Given the description of an element on the screen output the (x, y) to click on. 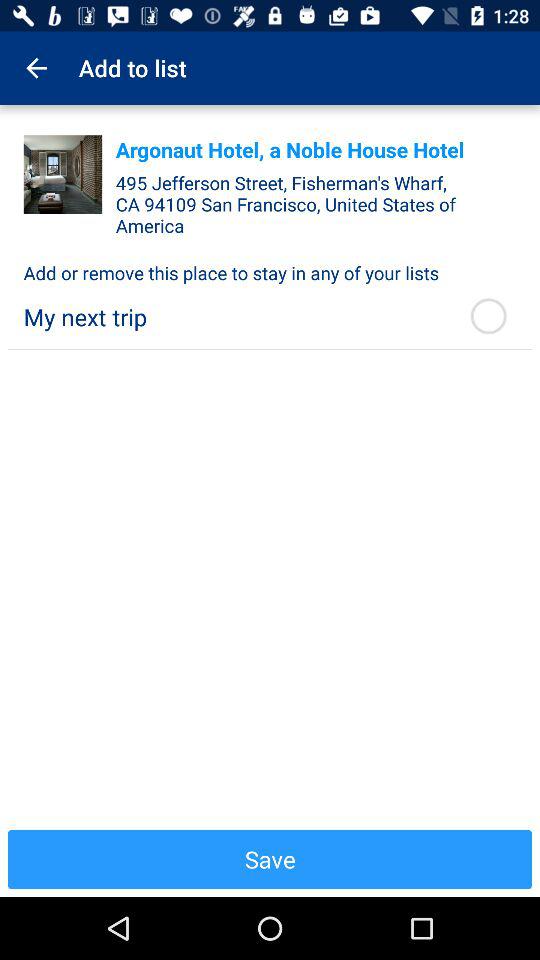
click the icon below the add or remove (488, 316)
